Given the description of an element on the screen output the (x, y) to click on. 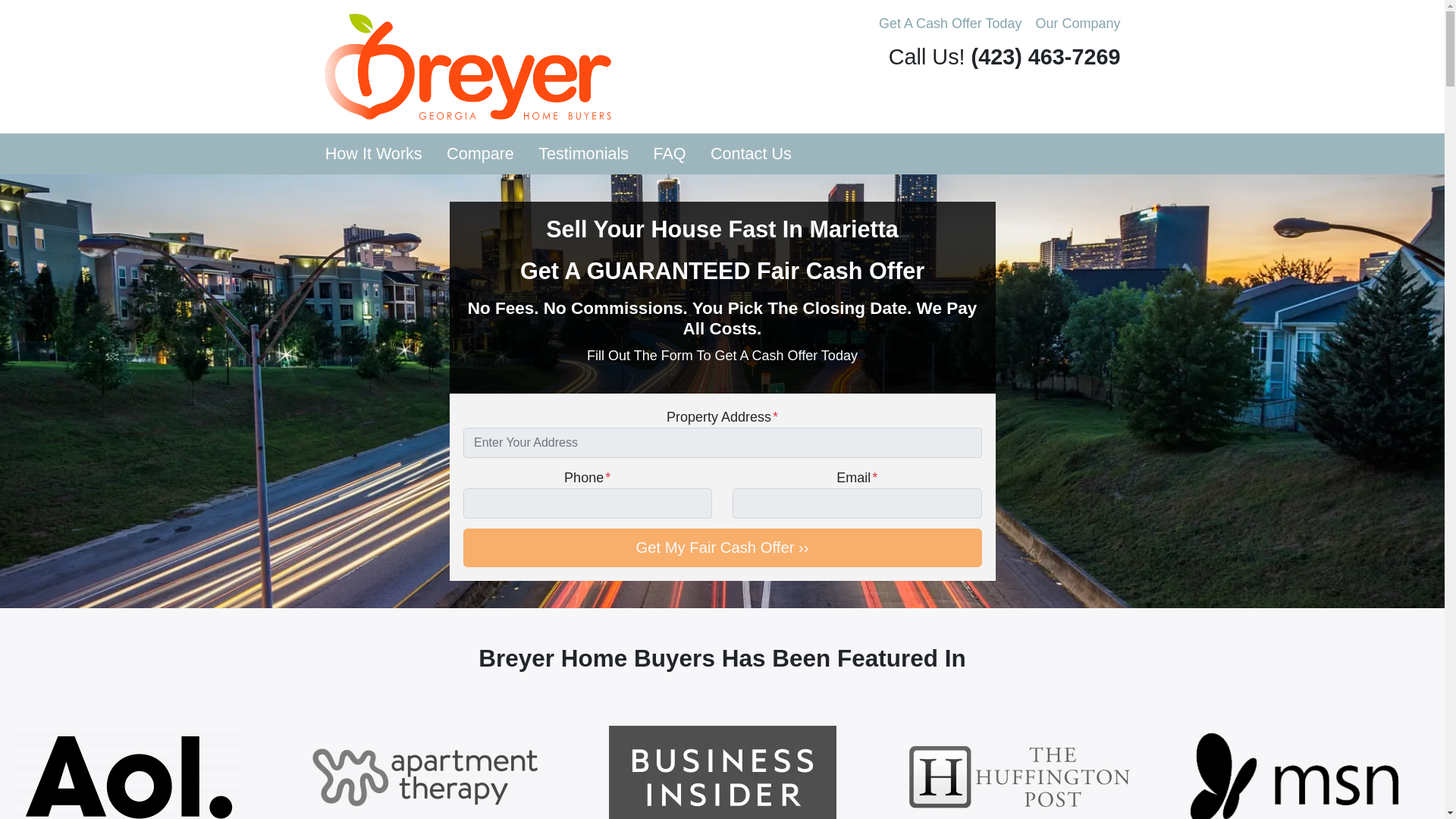
How It Works (373, 153)
Contact Us (750, 153)
Testimonials (582, 153)
Contact Us (750, 153)
Get A Cash Offer Today (949, 23)
Compare (479, 153)
FAQ (669, 153)
How It Works (373, 153)
Our Company (1076, 23)
FAQ (669, 153)
Compare (479, 153)
Testimonials (582, 153)
